Given the description of an element on the screen output the (x, y) to click on. 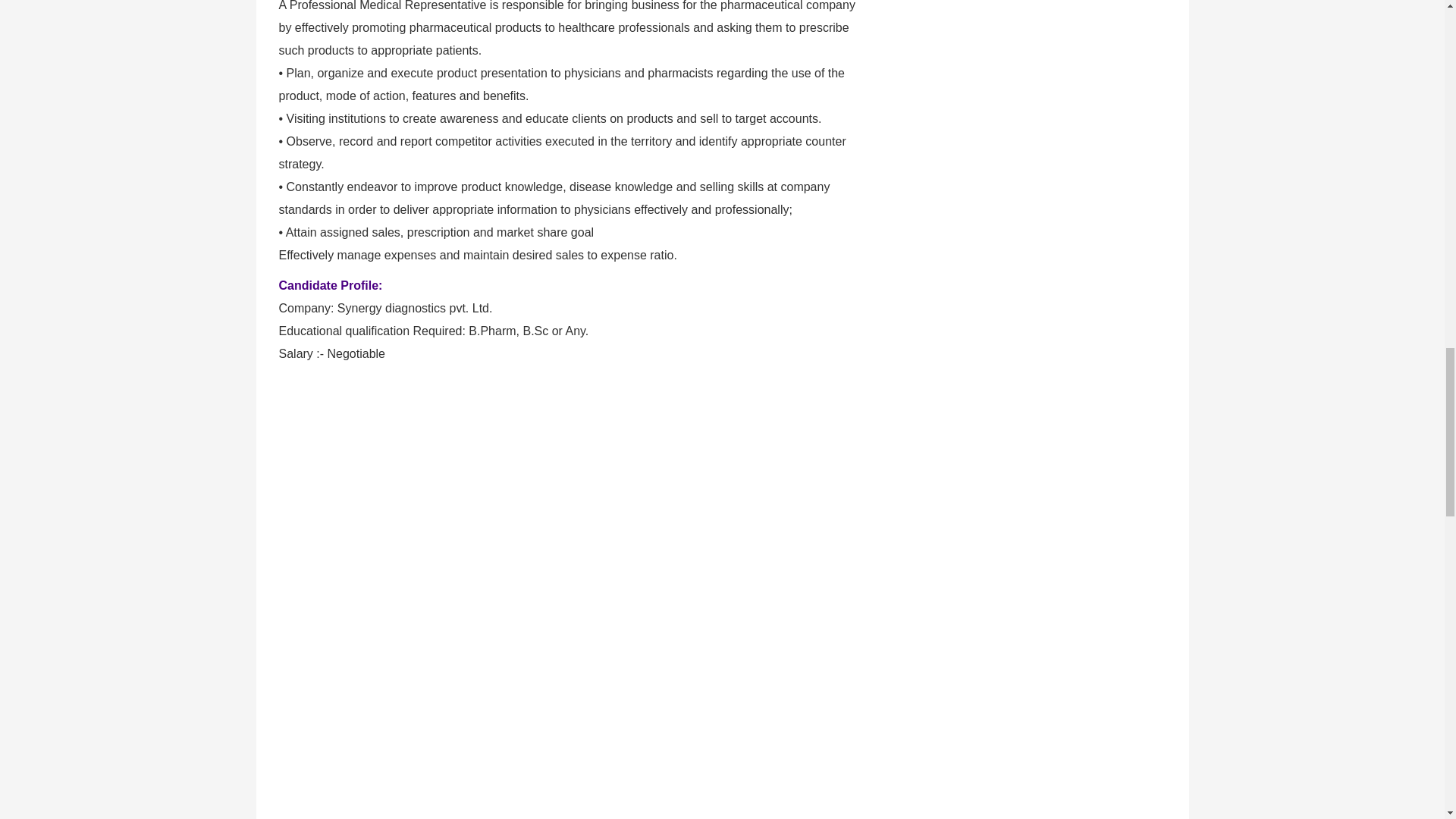
Advertisement (571, 698)
